Given the description of an element on the screen output the (x, y) to click on. 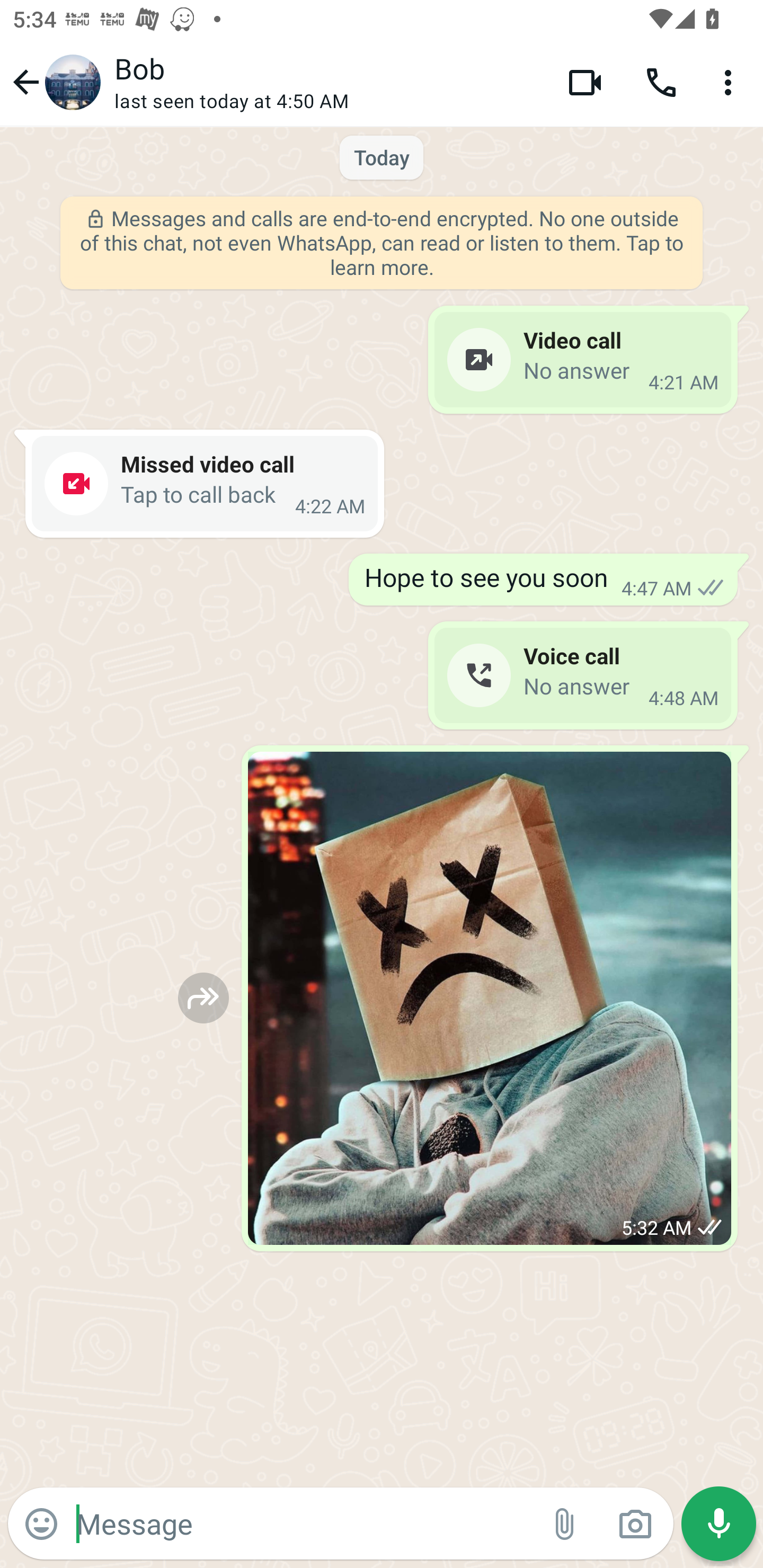
Bob last seen today at 4:50 AM (327, 82)
Navigate up (54, 82)
Video call (585, 81)
Voice call (661, 81)
More options (731, 81)
View photo (488, 997)
Forward to… (202, 997)
Emoji (41, 1523)
Attach (565, 1523)
Camera (634, 1523)
Message (303, 1523)
